Given the description of an element on the screen output the (x, y) to click on. 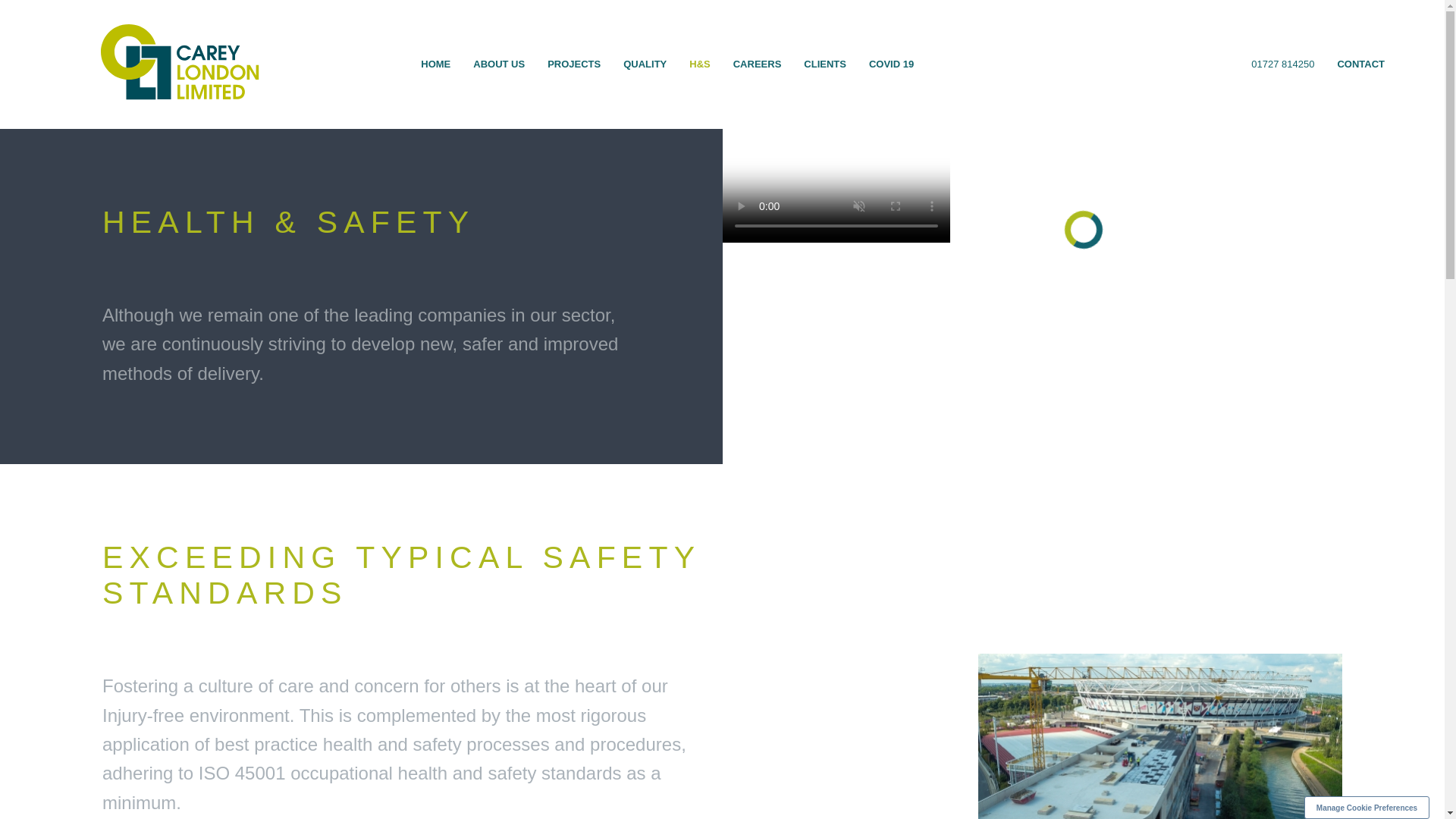
HOME (435, 64)
QUALITY (644, 64)
CAREERS (757, 64)
CLIENTS (824, 64)
Manage Cookie Preferences (1366, 807)
ABOUT US (498, 64)
01727 814250 (1282, 64)
CONTACT (1360, 64)
COVID 19 (890, 64)
PROJECTS (573, 64)
